Given the description of an element on the screen output the (x, y) to click on. 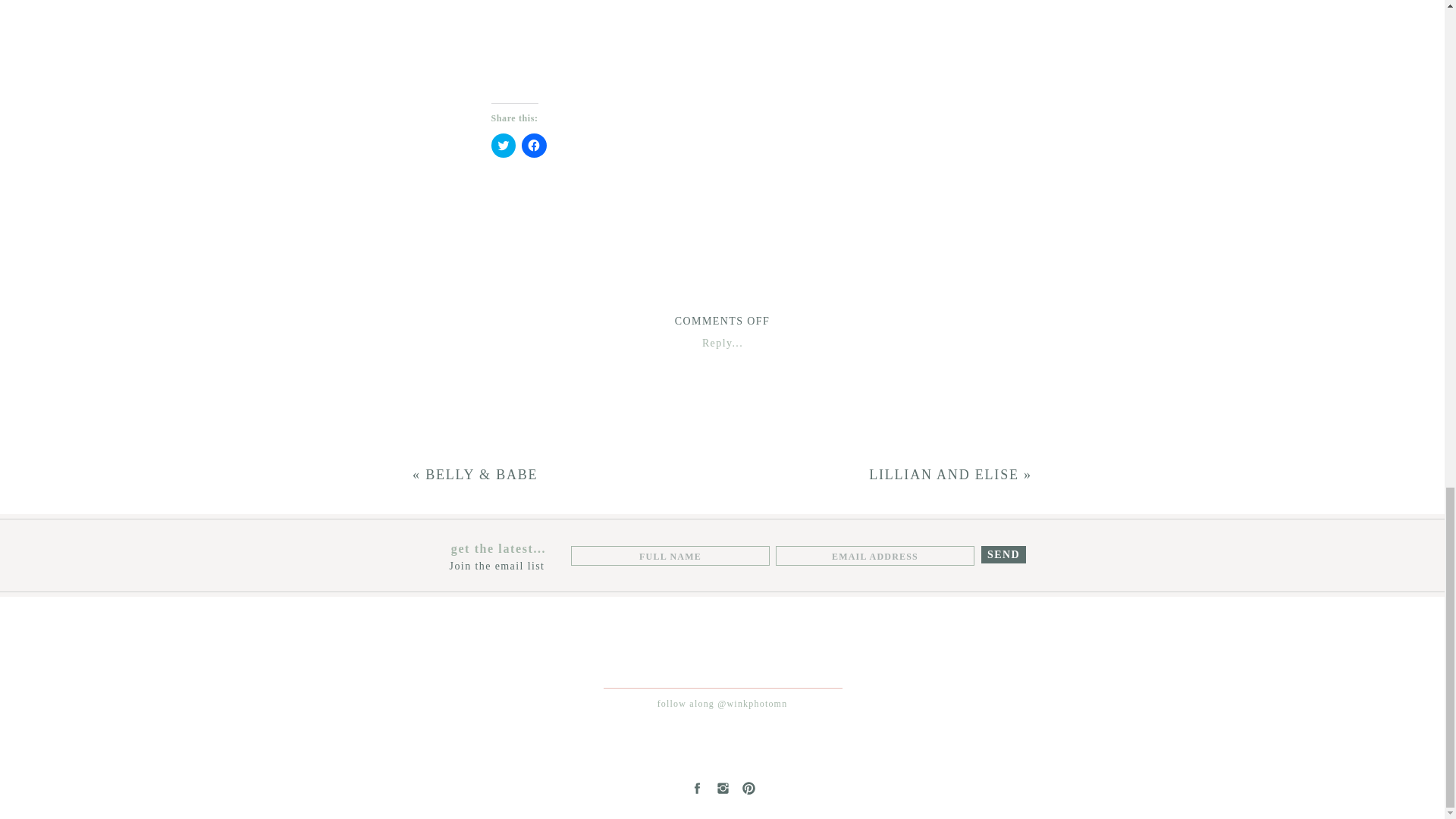
Click to share on Twitter (504, 145)
LILLIAN AND ELISE (944, 474)
Click to share on Facebook (534, 145)
SEND (1003, 554)
